Given the description of an element on the screen output the (x, y) to click on. 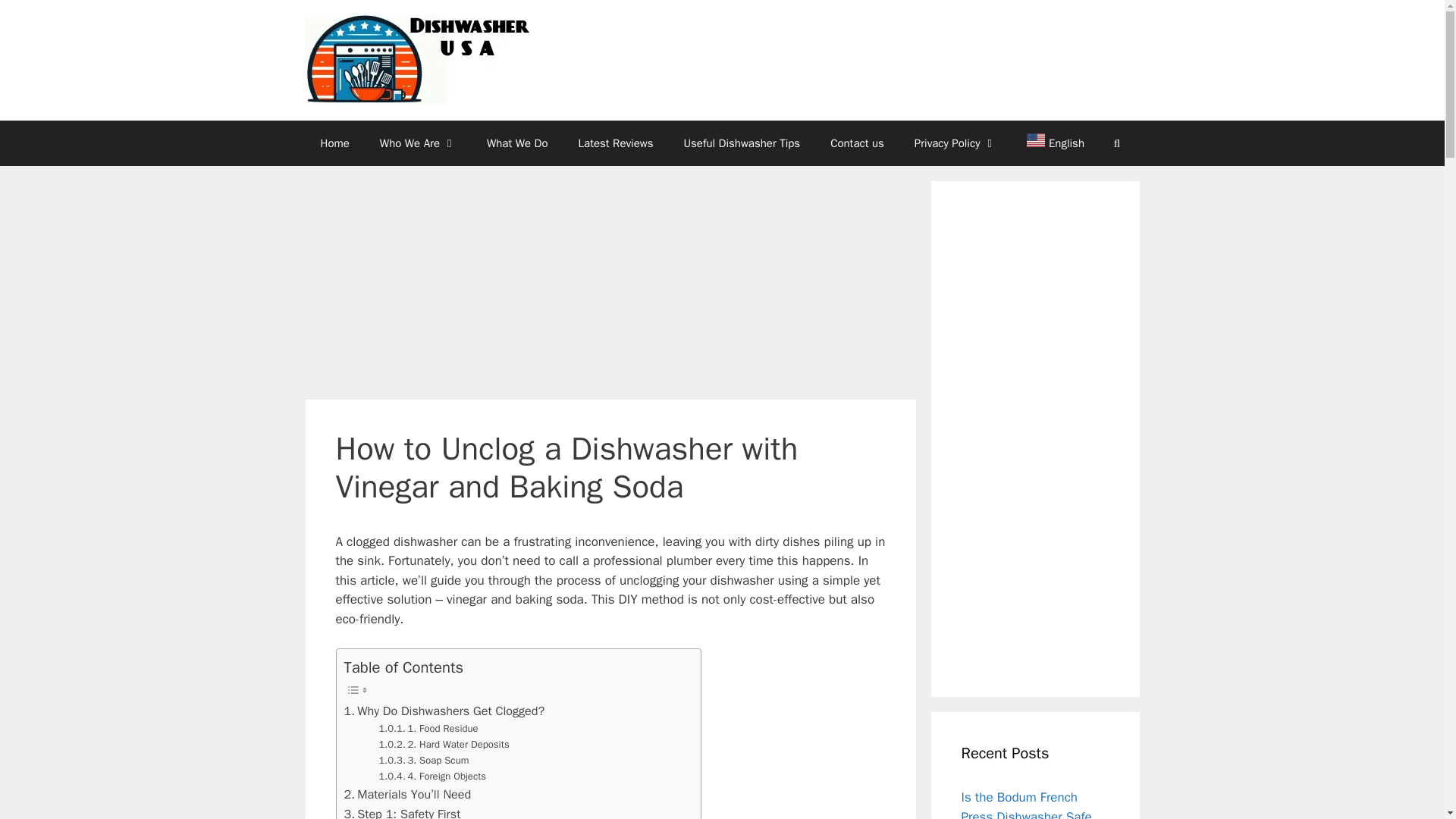
2. Hard Water Deposits (443, 744)
Contact us (857, 143)
Privacy Policy (955, 143)
English (1047, 143)
What We Do (517, 143)
Why Do Dishwashers Get Clogged? (443, 711)
4. Foreign Objects (432, 776)
1. Food Residue (428, 729)
Advertisement (609, 286)
Who We Are (418, 143)
Step 1: Safety First (402, 811)
4. Foreign Objects (432, 776)
3. Soap Scum (423, 760)
Step 1: Safety First (402, 811)
3. Soap Scum (423, 760)
